Given the description of an element on the screen output the (x, y) to click on. 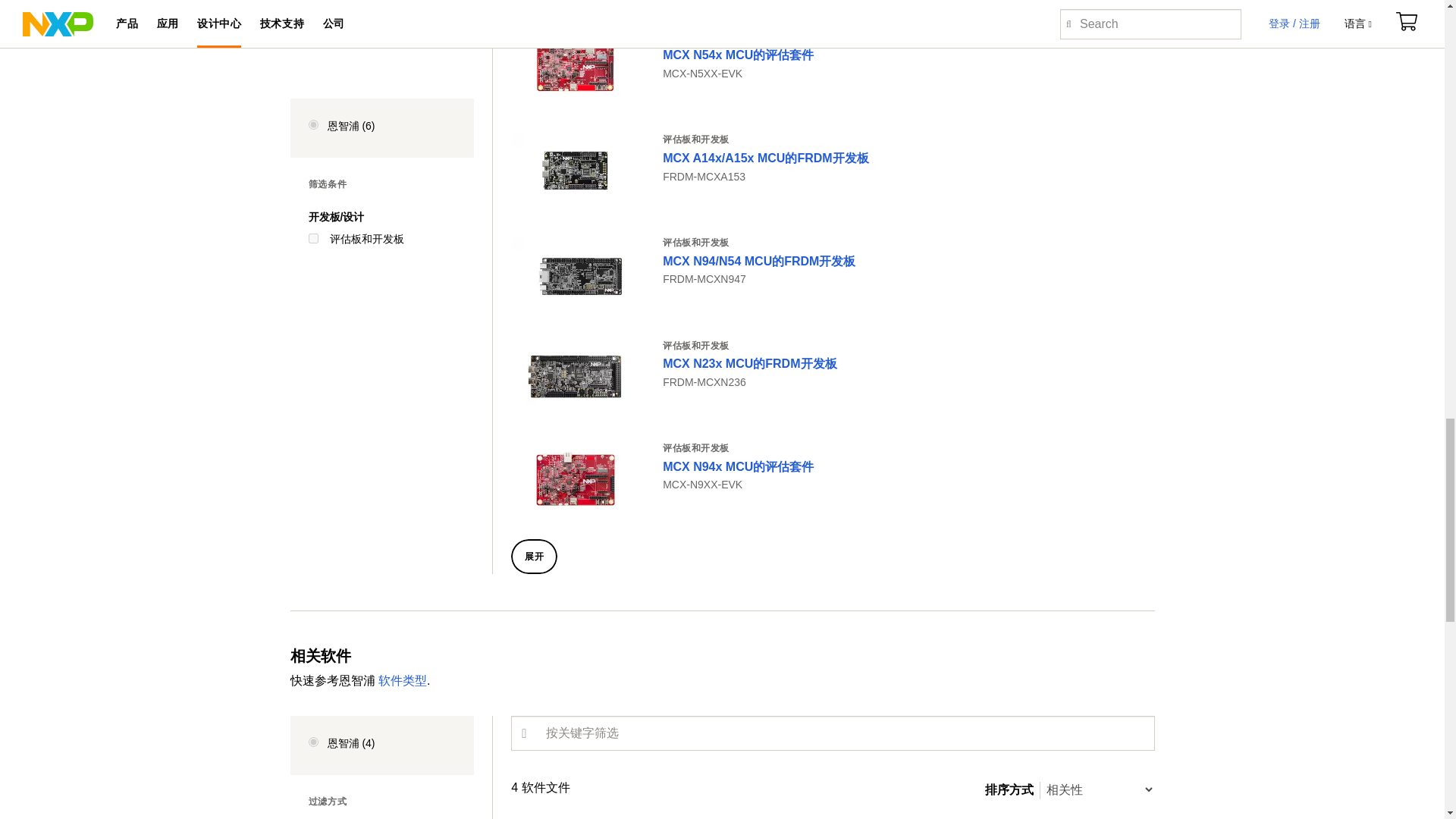
Evaluation and Development Boards (312, 67)
nxpSoftware (312, 741)
